Given the description of an element on the screen output the (x, y) to click on. 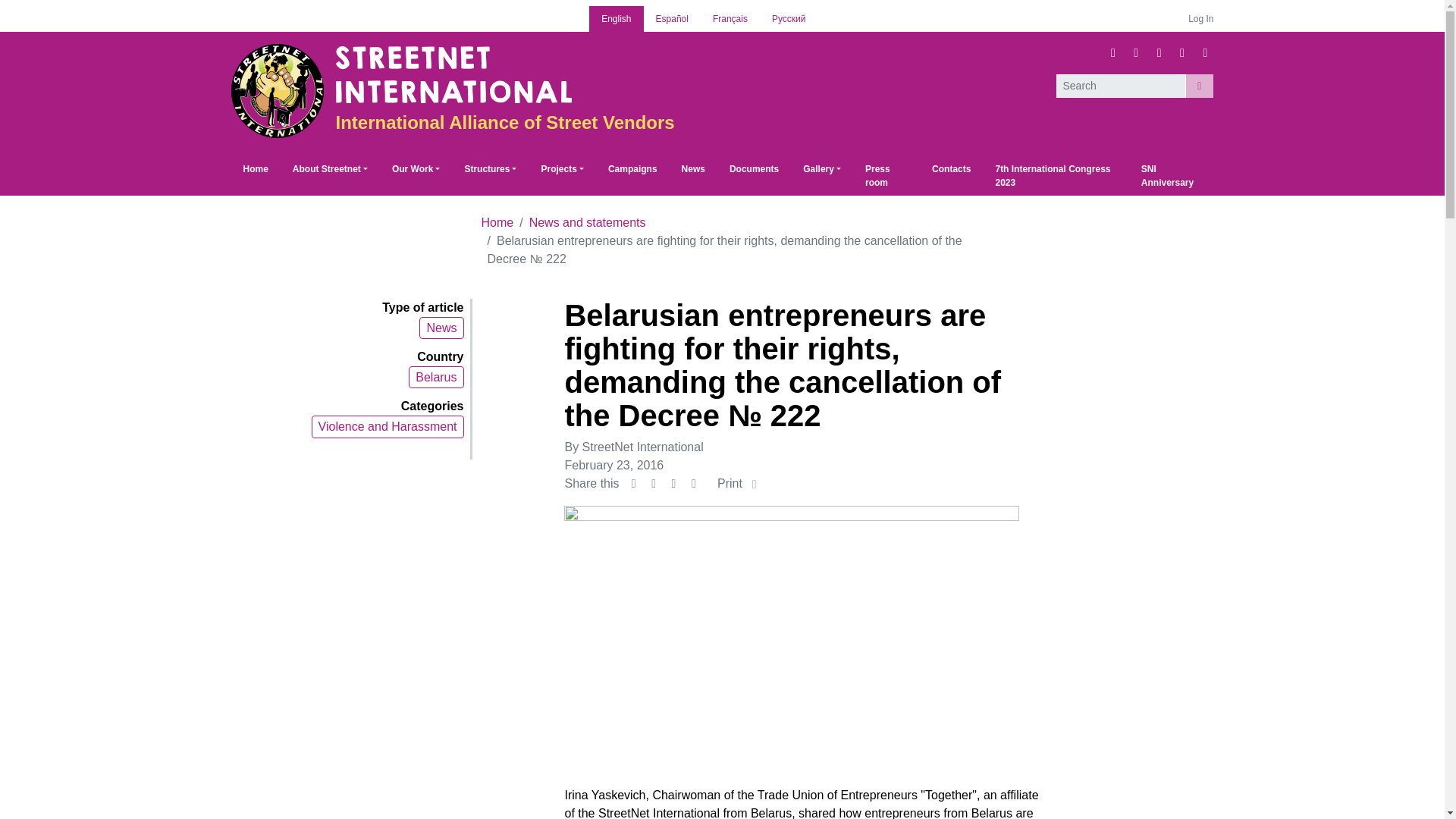
English (616, 18)
English (616, 18)
Home (254, 168)
STREETNET INTERNATIONAL (452, 73)
Our Work (416, 168)
Structures (489, 168)
About Streetnet (330, 168)
Log In  (1194, 18)
Home (254, 168)
Log In (1194, 18)
